Given the description of an element on the screen output the (x, y) to click on. 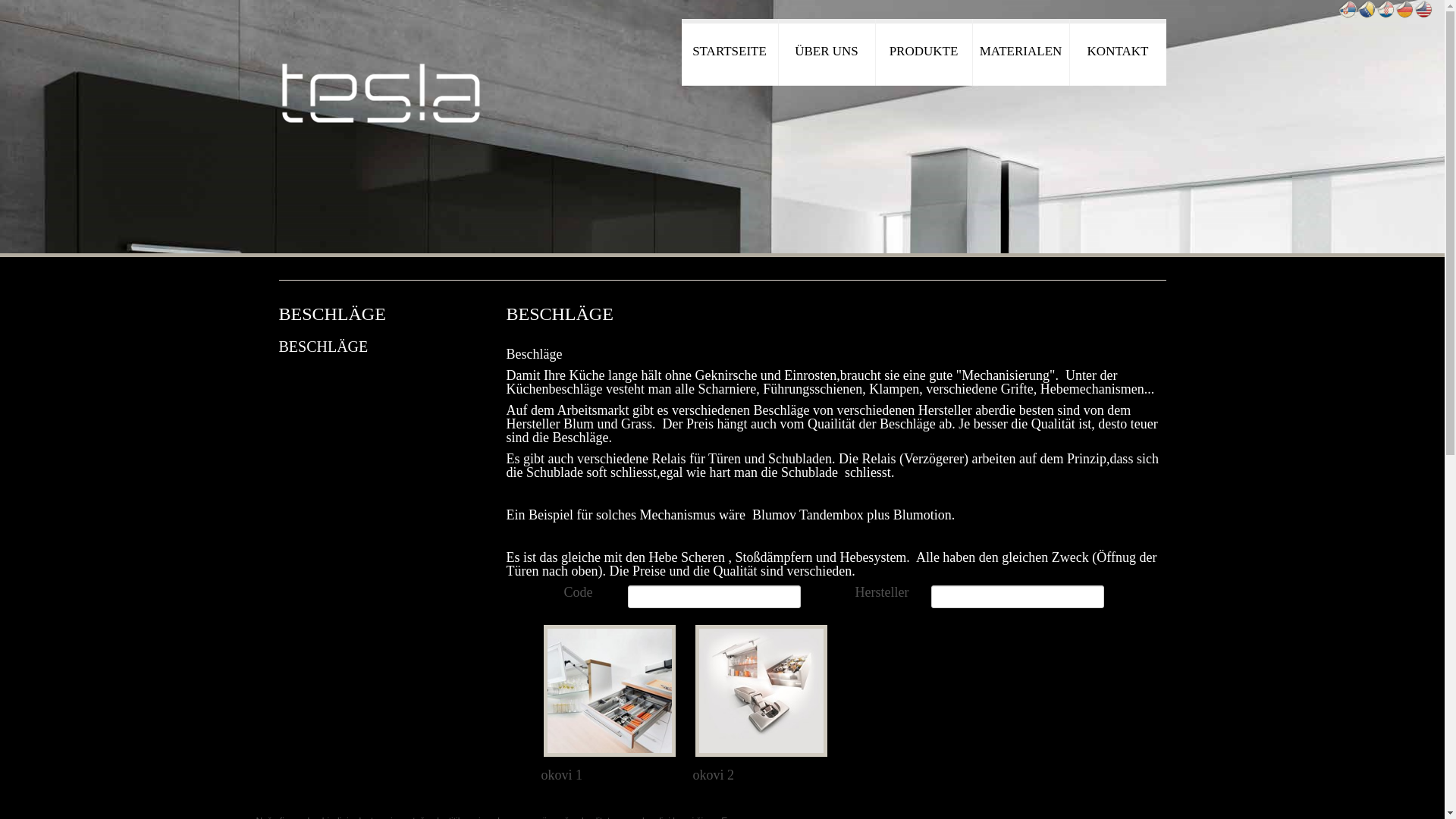
STARTSEITE Element type: text (728, 51)
PRODUKTE Element type: text (923, 51)
Kroatisch Element type: hover (1385, 9)
KONTAKT Element type: text (1117, 51)
MATERIALEN Element type: text (1020, 51)
Deutsch Element type: hover (1404, 9)
Bosnisch Element type: hover (1366, 9)
